Given the description of an element on the screen output the (x, y) to click on. 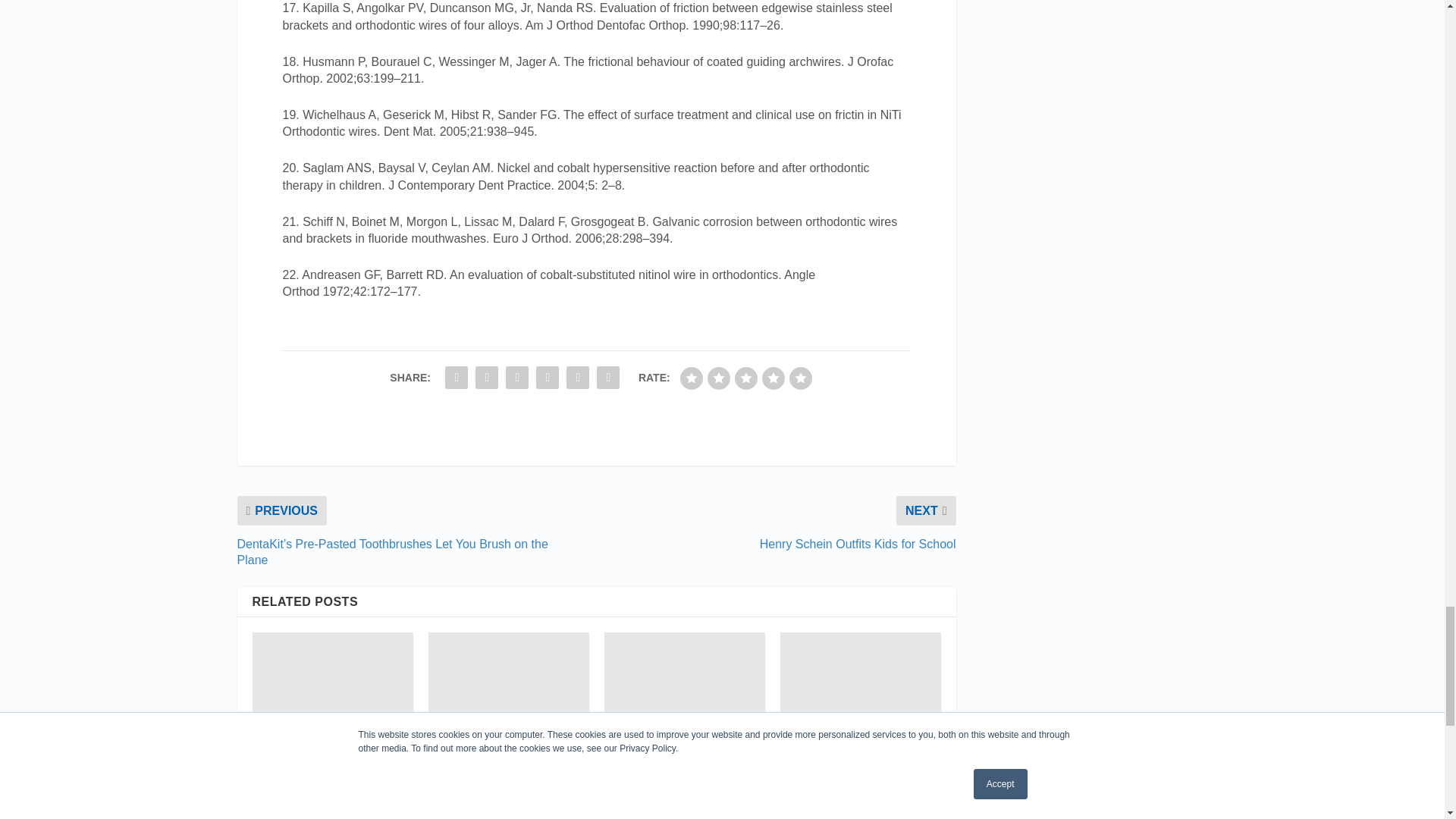
good (772, 377)
regular (746, 377)
Share "Which Wire?" via Print (607, 377)
Share "Which Wire?" via LinkedIn (517, 377)
Share "Which Wire?" via Facebook (456, 377)
gorgeous (800, 377)
bad (691, 377)
Share "Which Wire?" via Email (577, 377)
Industry Insider (331, 718)
Share "Which Wire?" via Twitter (486, 377)
Share "Which Wire?" via Buffer (547, 377)
poor (718, 377)
